Given the description of an element on the screen output the (x, y) to click on. 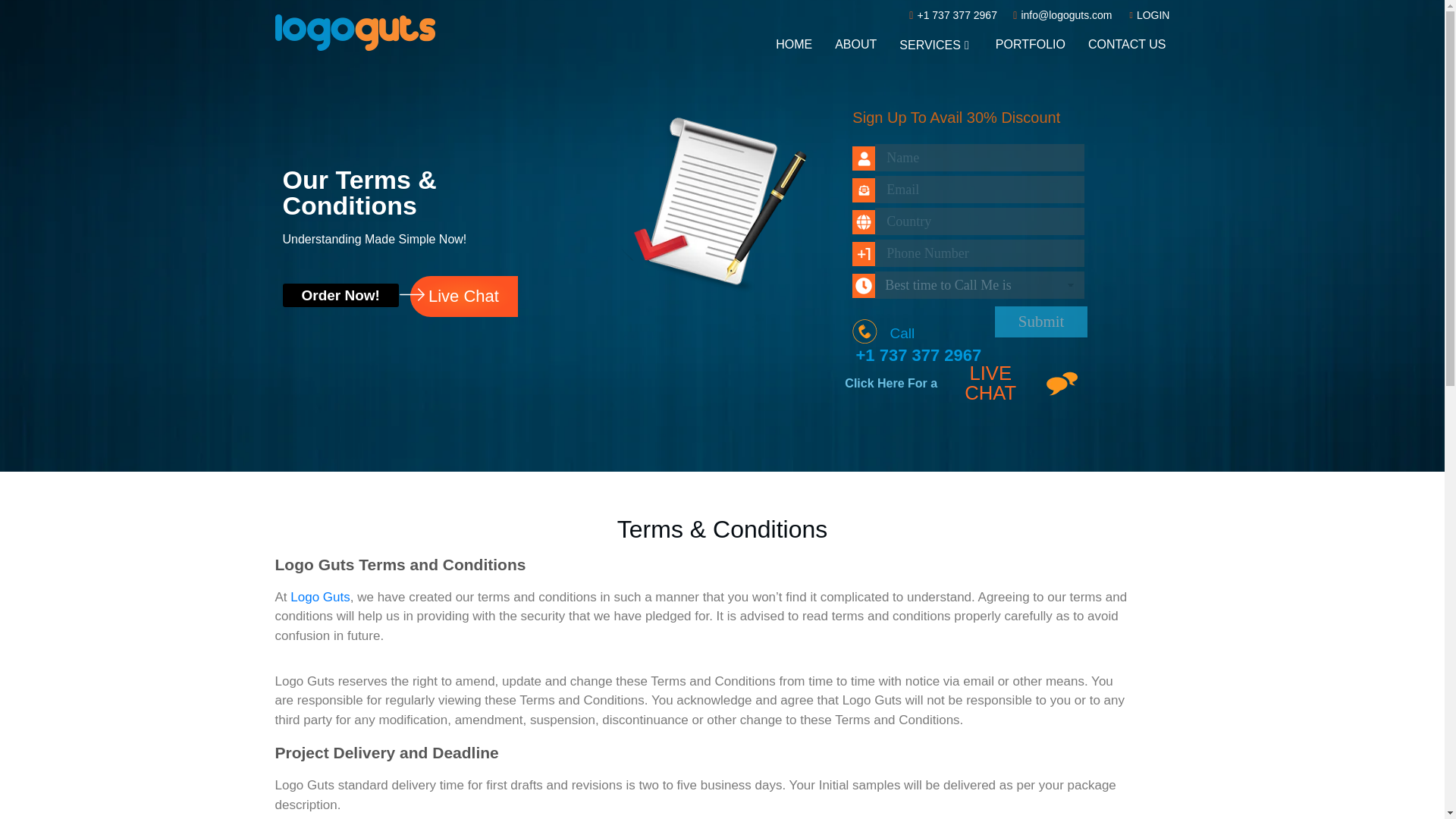
LOGIN (1149, 15)
CONTACT US (1126, 44)
HOME (793, 44)
SERVICES (935, 45)
PORTFOLIO (1030, 44)
ABOUT (855, 44)
